Given the description of an element on the screen output the (x, y) to click on. 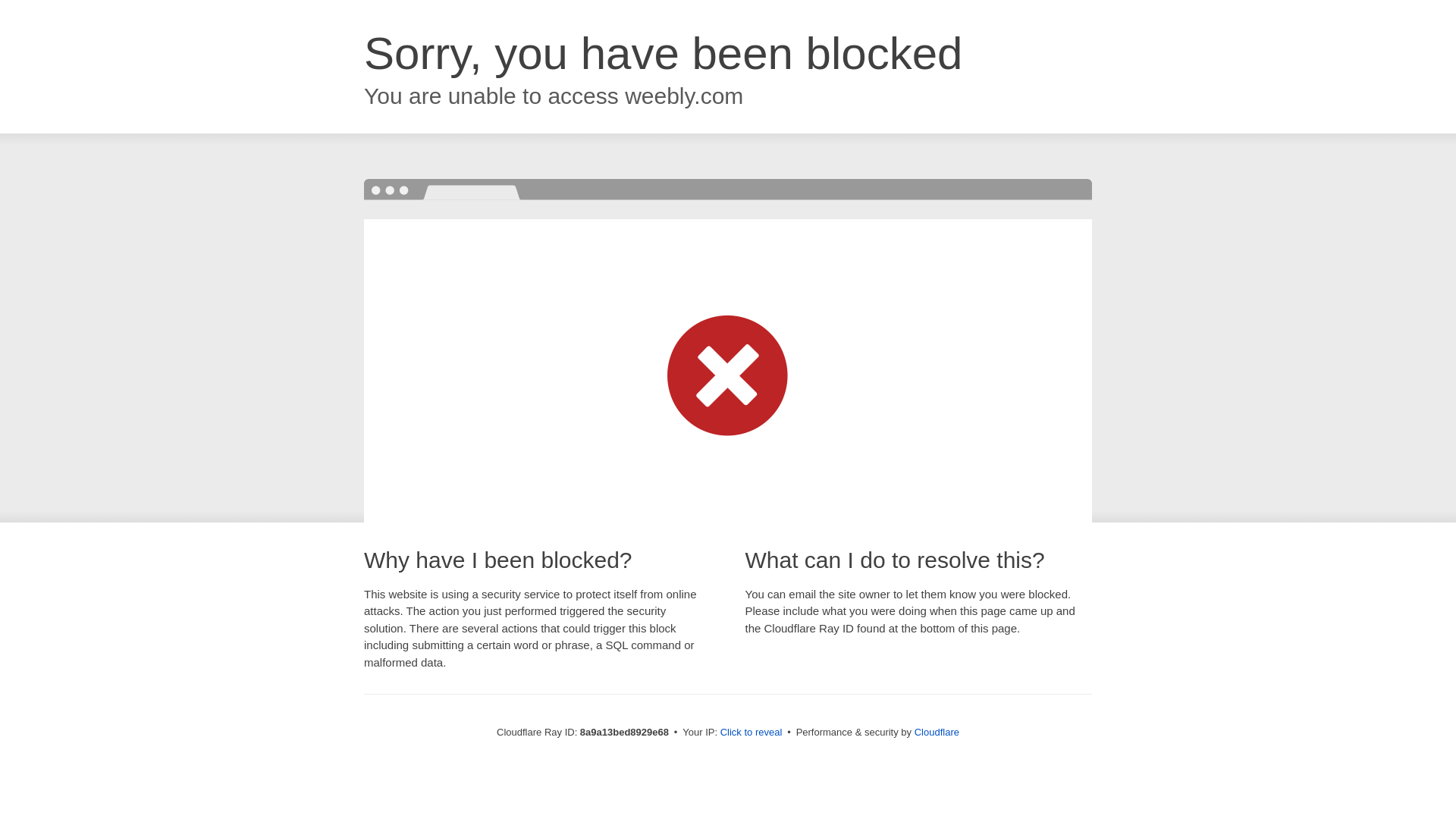
Click to reveal (751, 732)
Cloudflare (936, 731)
